Given the description of an element on the screen output the (x, y) to click on. 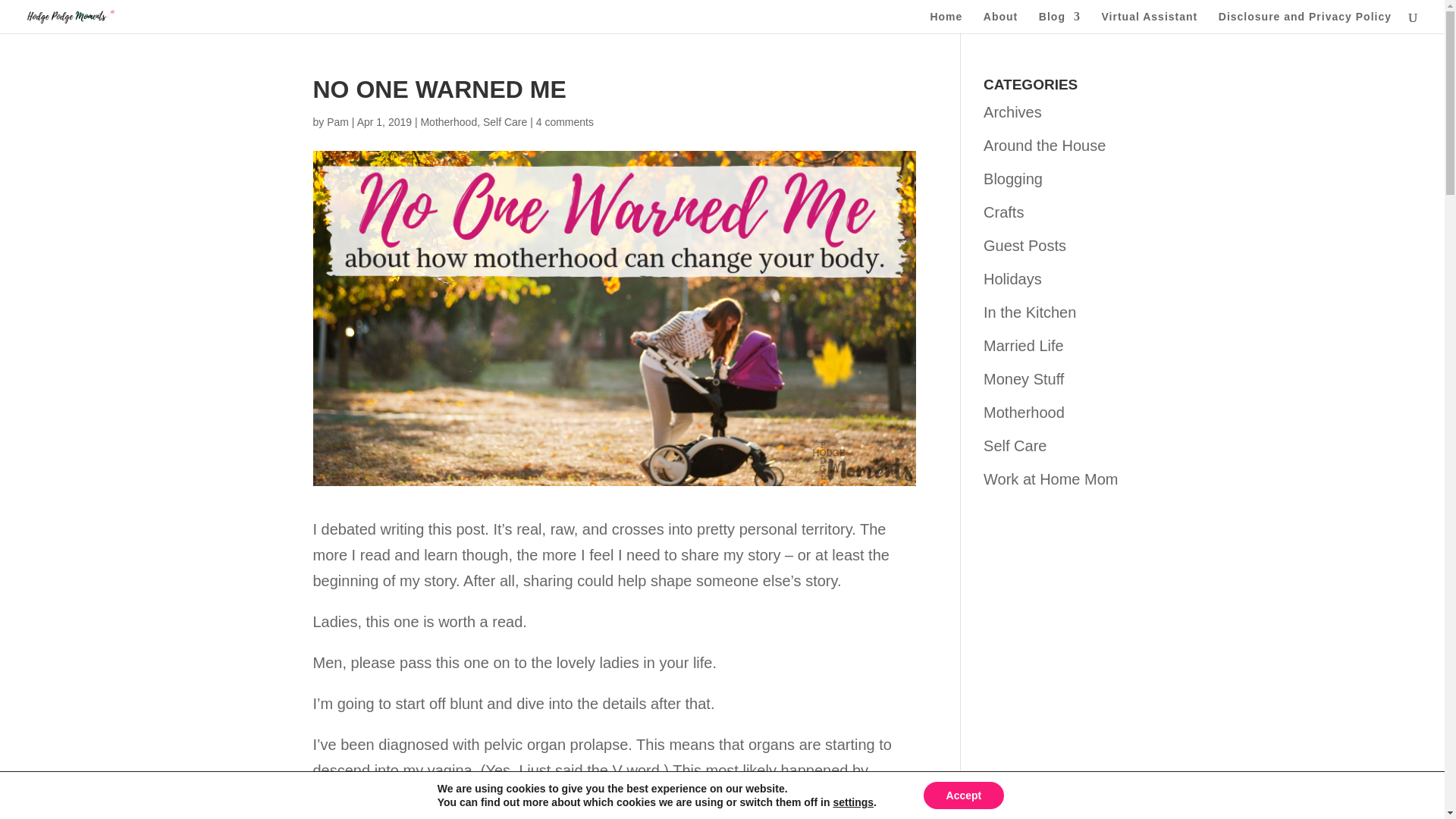
Around the House (1044, 145)
Home (946, 22)
4 comments (564, 121)
Disclosure and Privacy Policy (1304, 22)
Pam (337, 121)
Holidays (1013, 279)
Archives (1013, 112)
Blog (1059, 22)
Crafts (1003, 211)
Self Care (505, 121)
Virtual Assistant (1150, 22)
Motherhood (448, 121)
Posts by Pam (337, 121)
Blogging (1013, 178)
In the Kitchen (1029, 312)
